Given the description of an element on the screen output the (x, y) to click on. 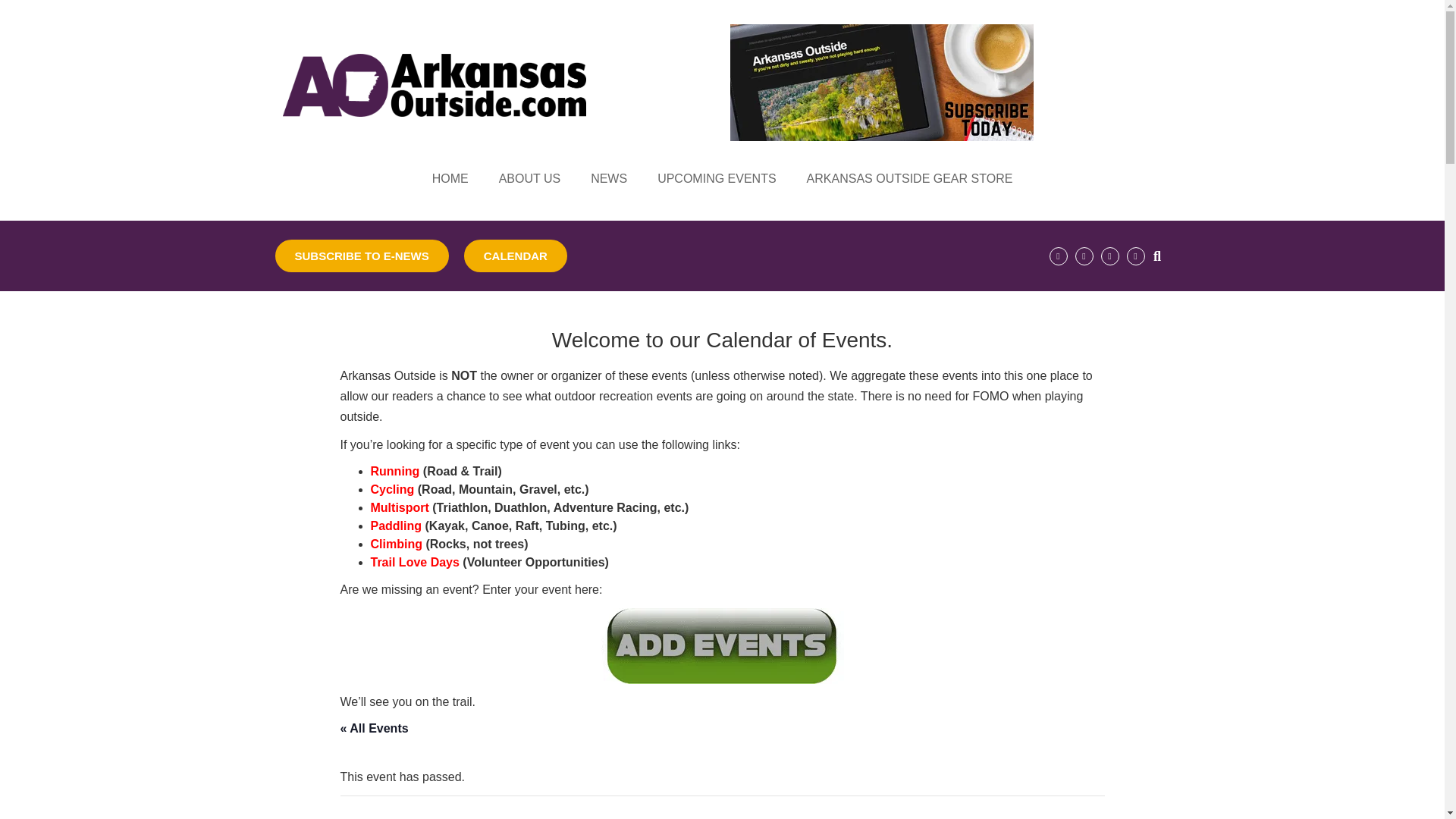
UPCOMING EVENTS (715, 178)
CALENDAR (515, 255)
Paddling (395, 525)
Cycling (391, 489)
Running (394, 471)
ARKANSAS OUTSIDE GEAR STORE (909, 178)
NEWS (608, 178)
HOME (449, 178)
Multisport (398, 507)
SUBSCRIBE TO E-NEWS (361, 255)
